Given the description of an element on the screen output the (x, y) to click on. 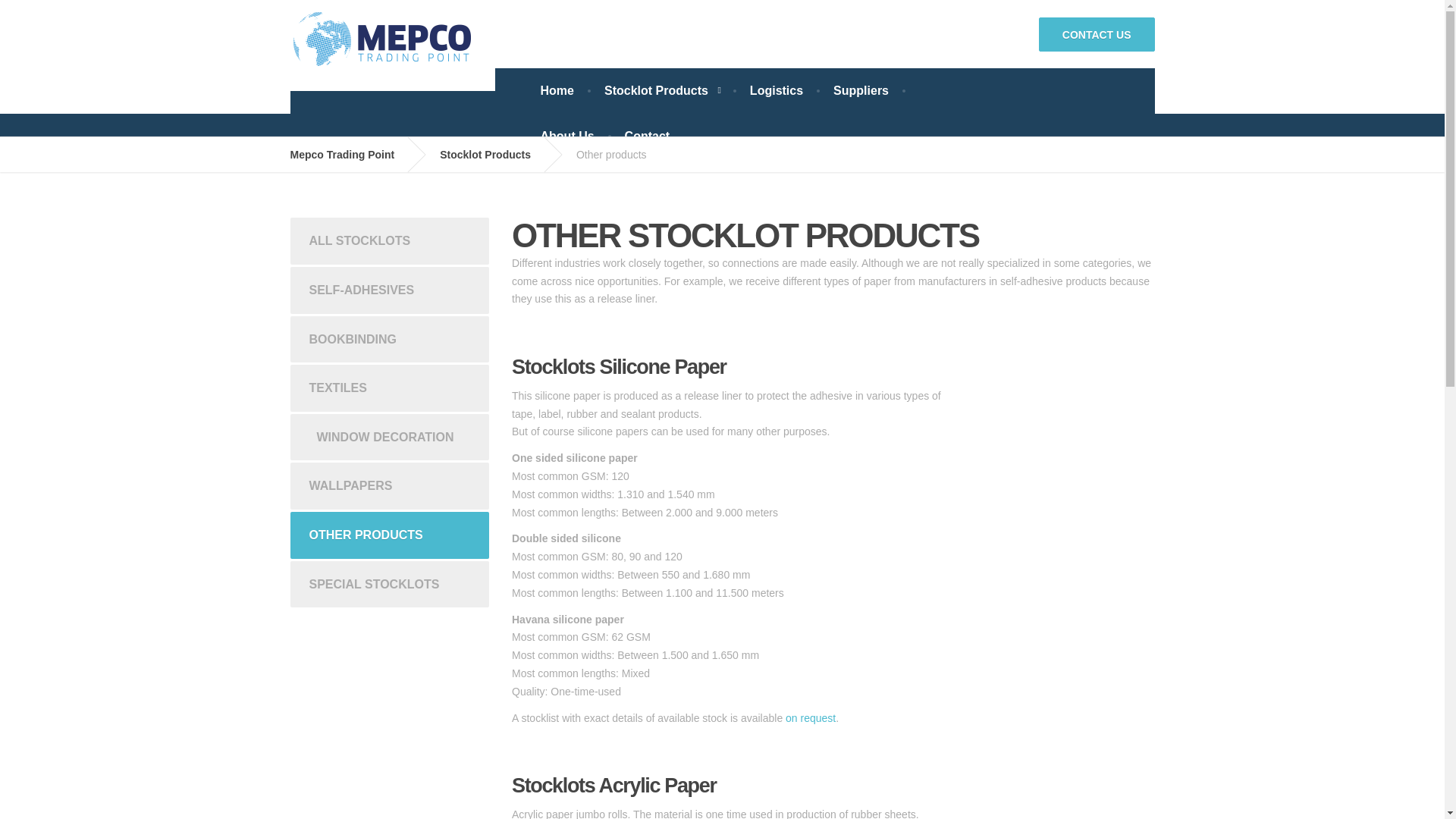
Suppliers (861, 90)
on request (810, 717)
Contact (647, 135)
About Us (566, 135)
Logistics (776, 90)
CONTACT US (1096, 33)
Go to Mepco Trading Point. (352, 154)
Stocklot Products (662, 90)
Home (556, 90)
Go to Stocklot Products. (496, 154)
